Given the description of an element on the screen output the (x, y) to click on. 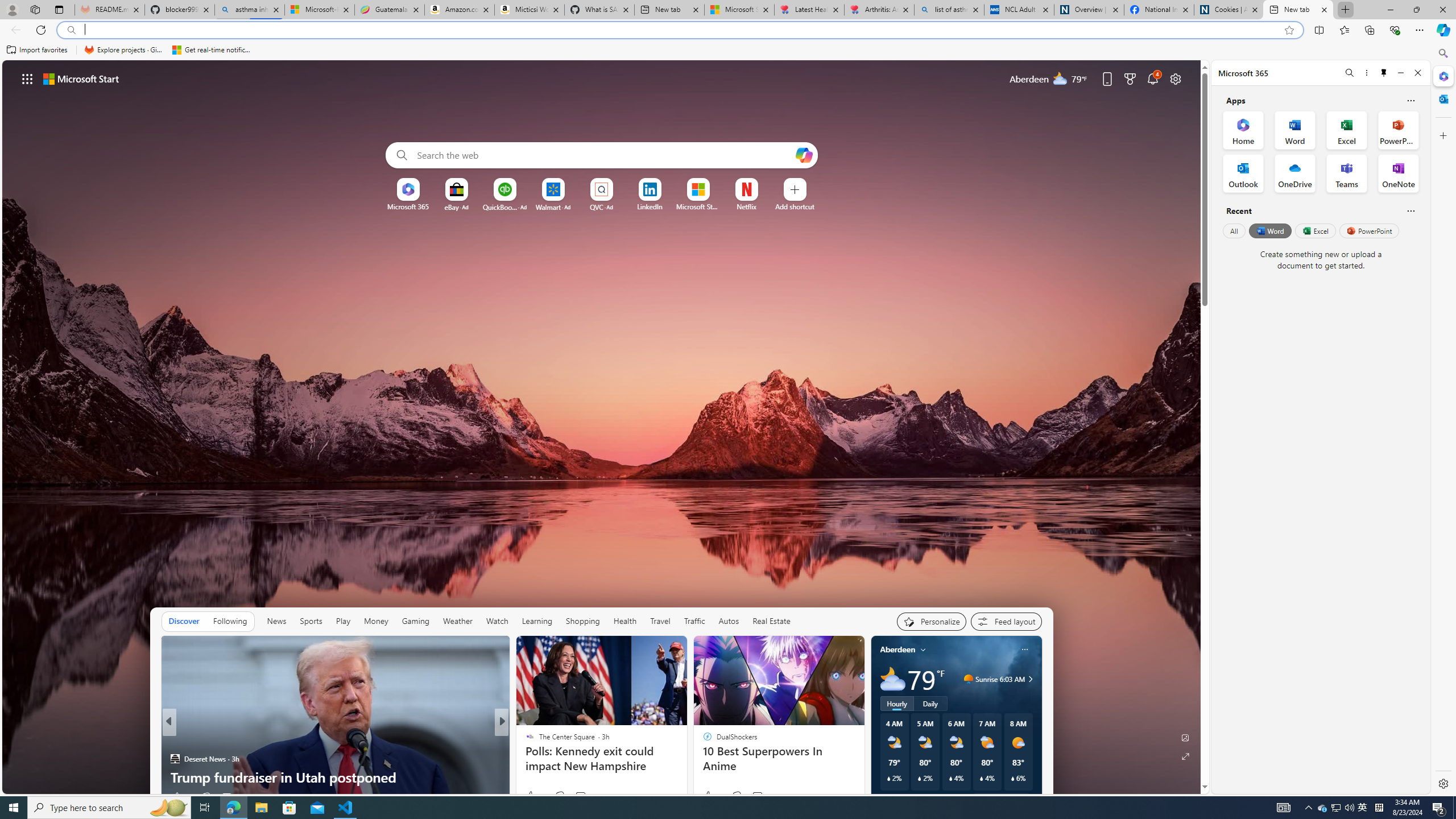
Wealth of Geeks (174, 740)
View comments 338 Comment (583, 796)
See full forecast (1000, 799)
Mostly cloudy (892, 678)
